Given the description of an element on the screen output the (x, y) to click on. 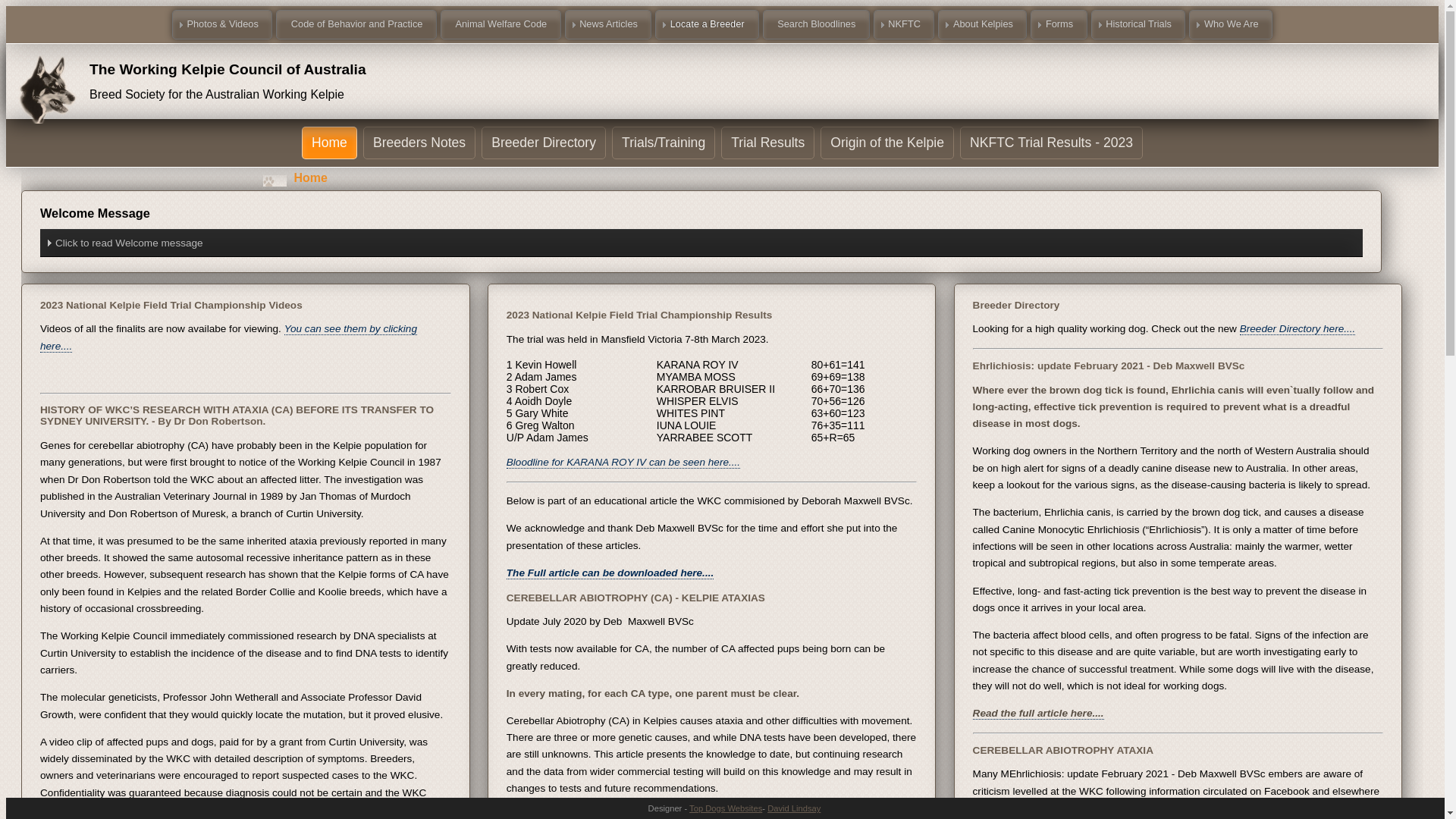
News Articles Element type: text (608, 24)
Trial Results Element type: text (767, 142)
Top Dogs Websites Element type: text (725, 807)
NKFTC Element type: text (904, 24)
Breeder Directory here.... Element type: text (1297, 329)
You can see them by clicking here.... Element type: text (228, 337)
Click to read Welcome message Element type: text (701, 243)
Origin of the Kelpie Element type: text (886, 142)
Search Bloodlines Element type: text (815, 24)
Animal Welfare Code Element type: text (500, 24)
Forms Element type: text (1058, 24)
Trials/Training Element type: text (663, 142)
Who We Are Element type: text (1230, 24)
NKFTC Trial Results - 2023 Element type: text (1051, 142)
About Kelpies Element type: text (982, 24)
David Lindsay Element type: text (793, 807)
The Full article can be downloaded here.... Element type: text (609, 573)
Code of Behavior and Practice Element type: text (356, 24)
Breeders Notes Element type: text (419, 142)
Home Element type: text (329, 142)
Breeder Directory Element type: text (543, 142)
Historical Trials Element type: text (1138, 24)
Locate a Breeder Element type: text (706, 24)
Read the full article here.... Element type: text (1038, 713)
Photos & Videos Element type: text (222, 24)
Bloodline for KARANA ROY IV can be seen here.... Element type: text (623, 462)
